Given the description of an element on the screen output the (x, y) to click on. 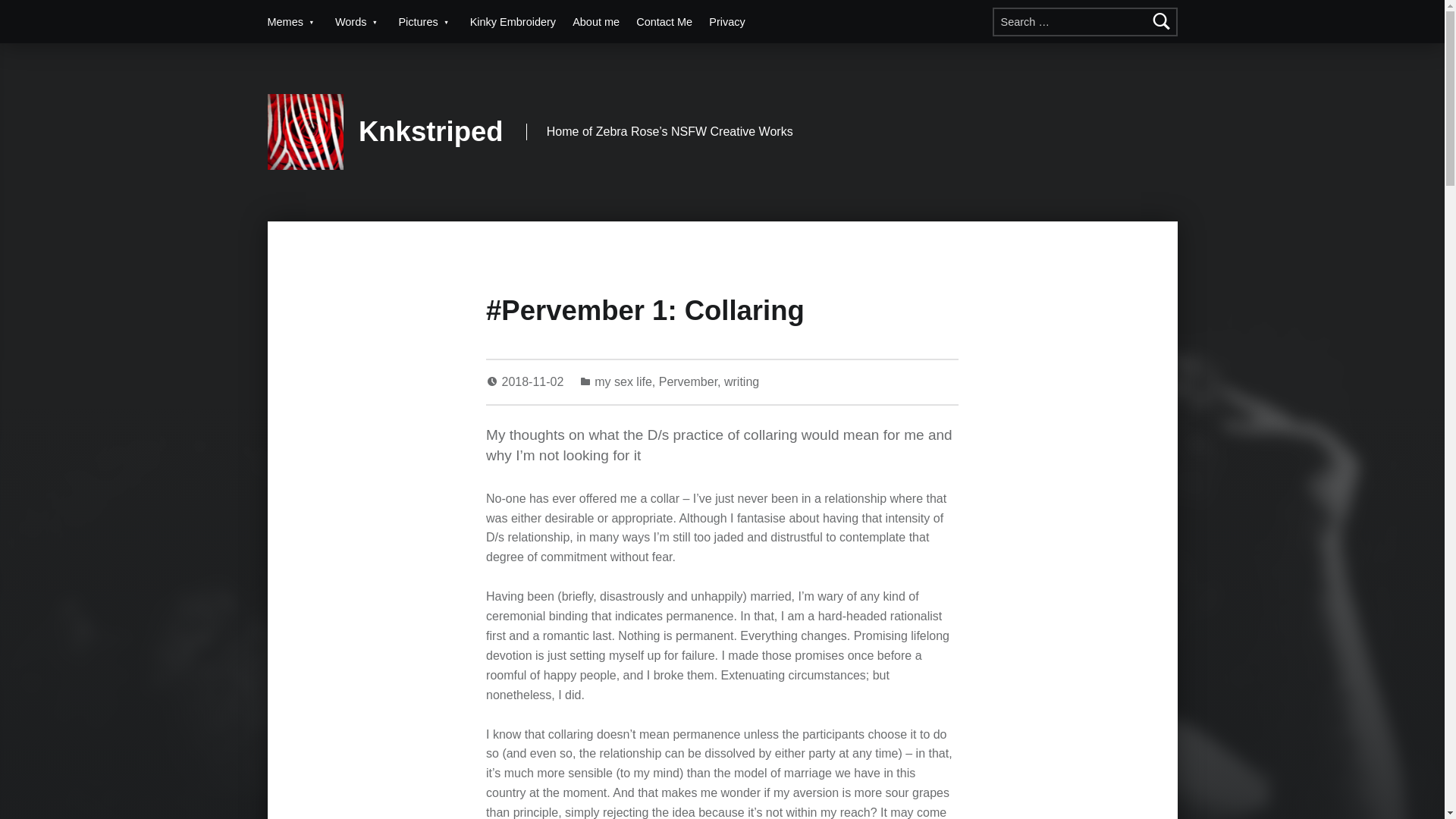
Posted on: 2018-11-02 (534, 381)
Pictures (424, 21)
Search (1162, 21)
Memes (291, 21)
Search (1162, 21)
About me (596, 21)
Kinky Embroidery (513, 21)
Privacy (726, 21)
Search (1162, 21)
Knkstriped (430, 131)
2018-11-02 (534, 381)
writing (740, 381)
my sex life (623, 381)
Words (357, 21)
Contact Me (664, 21)
